Given the description of an element on the screen output the (x, y) to click on. 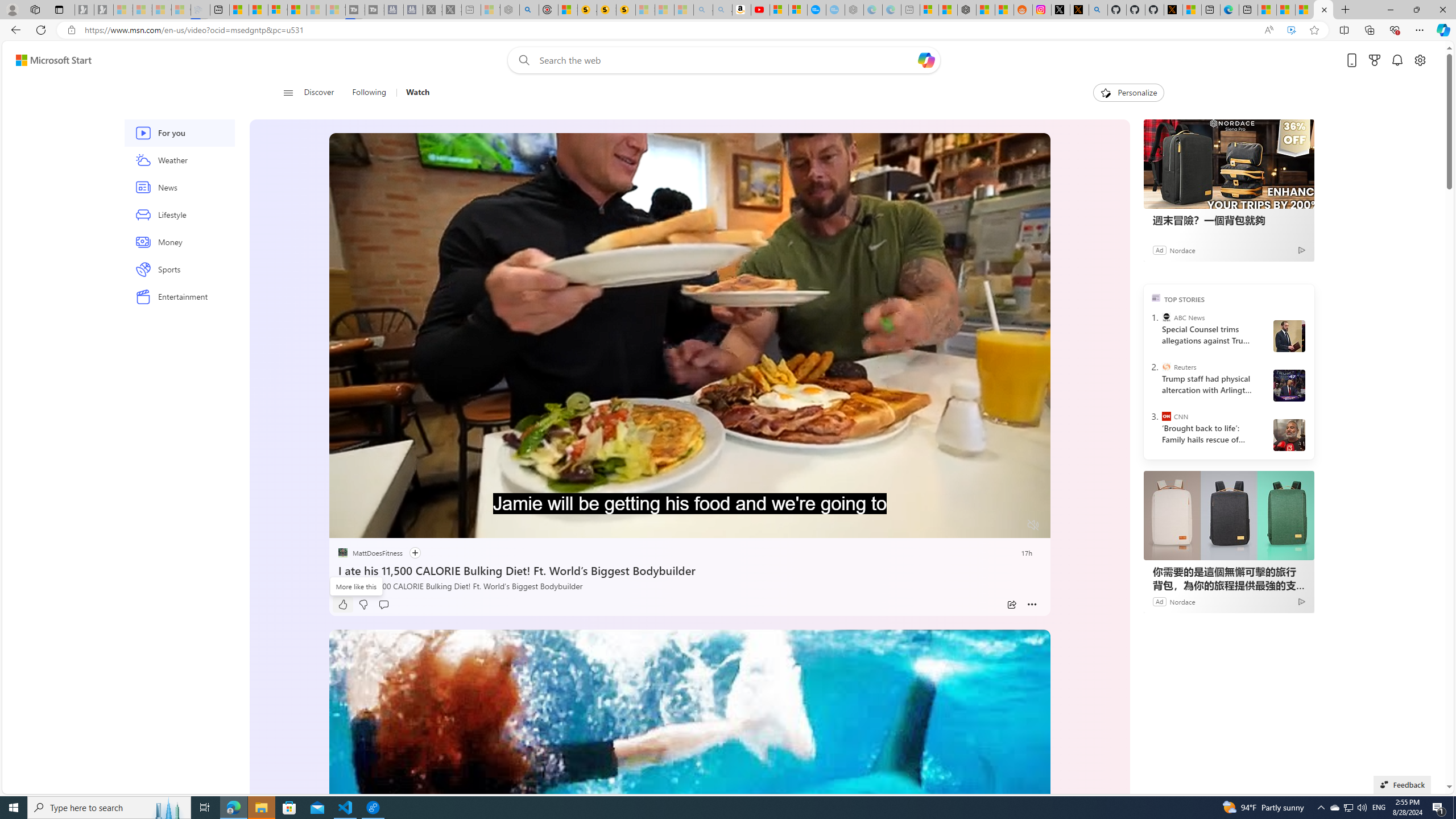
Open Copilot (925, 59)
Discover (323, 92)
Microsoft rewards (1374, 60)
Address and search bar (669, 29)
X - Sleeping (450, 9)
help.x.com | 524: A timeout occurred (1079, 9)
github - Search (1098, 9)
Open navigation menu (287, 92)
Enter your search term (726, 59)
